Given the description of an element on the screen output the (x, y) to click on. 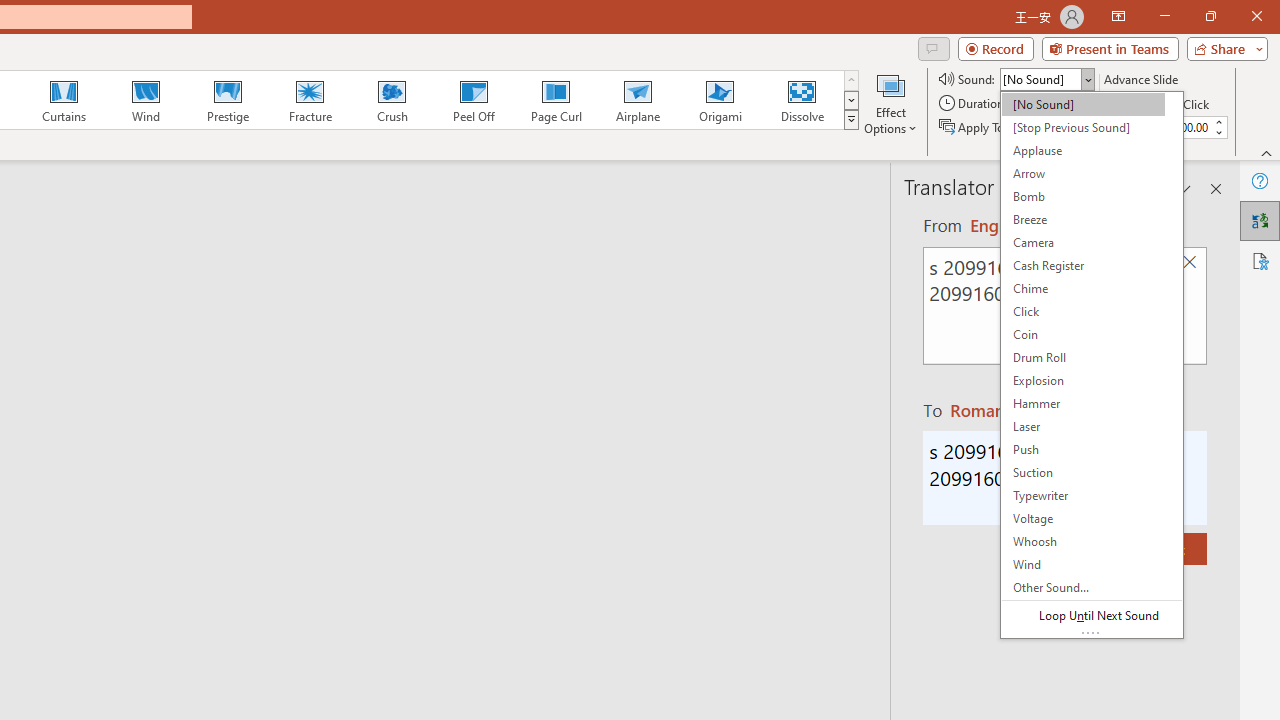
Page Curl (555, 100)
Origami (719, 100)
Fracture (309, 100)
Sound (1046, 78)
